Given the description of an element on the screen output the (x, y) to click on. 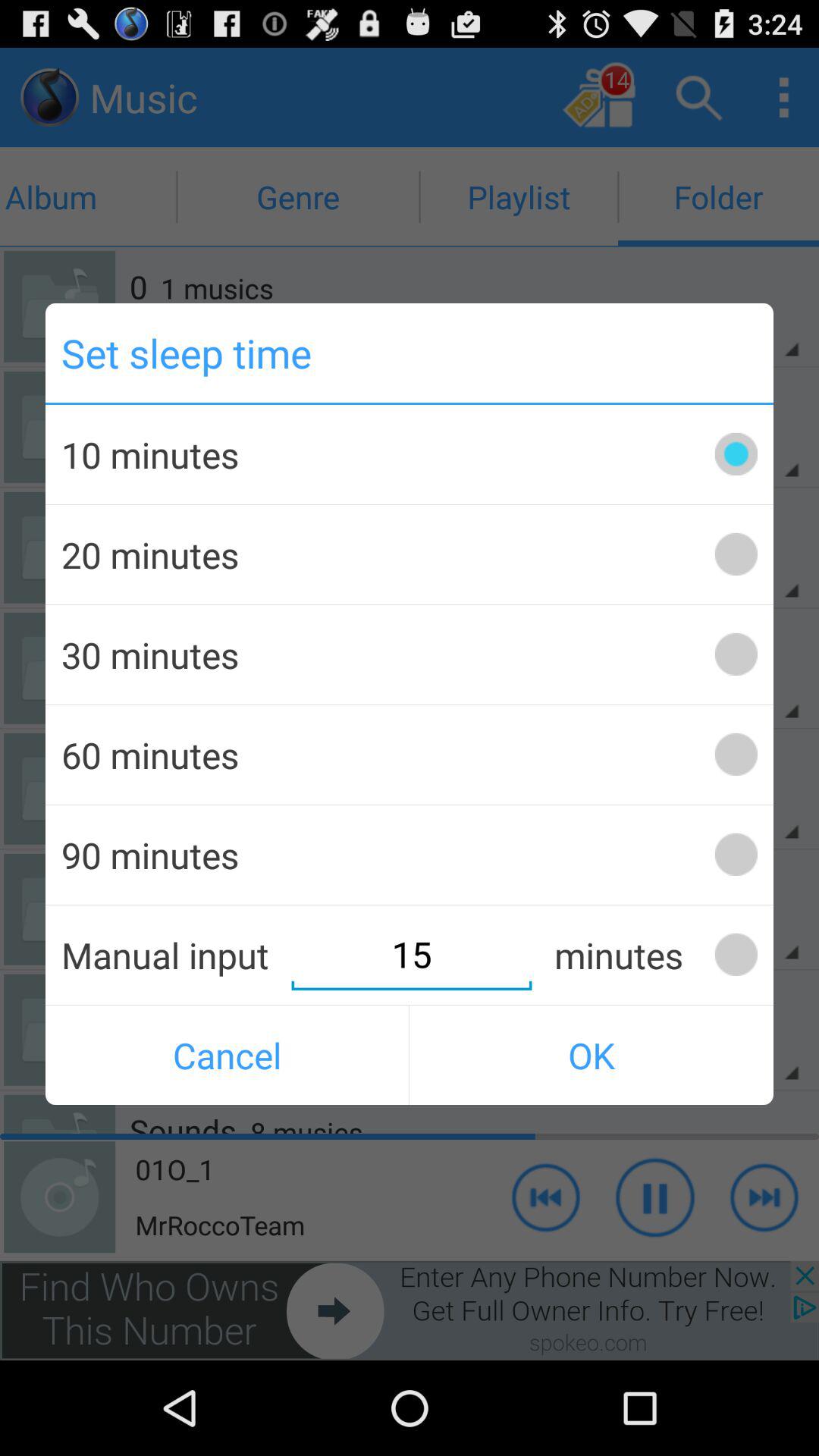
select the button (735, 654)
